Given the description of an element on the screen output the (x, y) to click on. 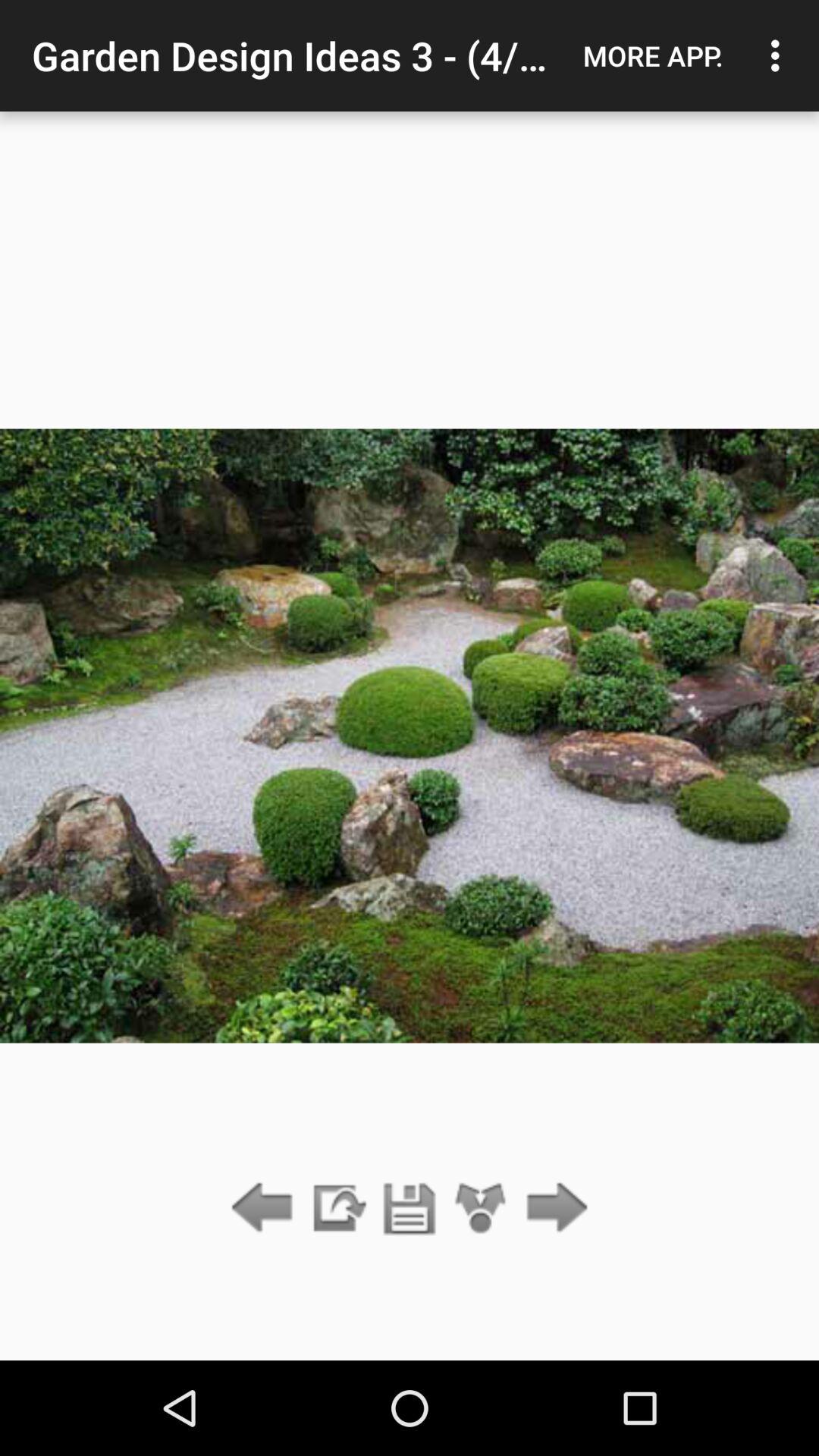
save (409, 1208)
